Given the description of an element on the screen output the (x, y) to click on. 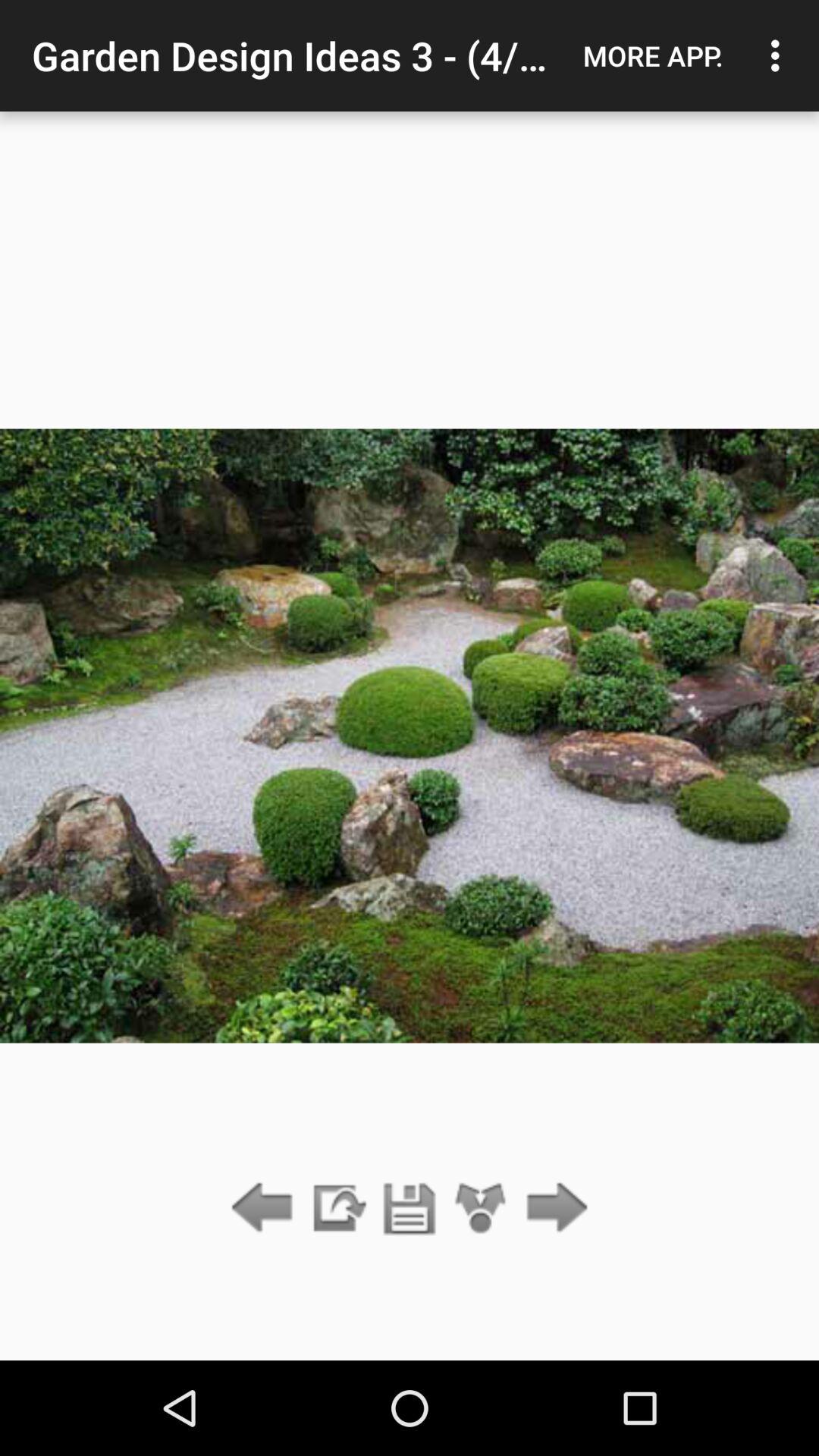
save (409, 1208)
